Given the description of an element on the screen output the (x, y) to click on. 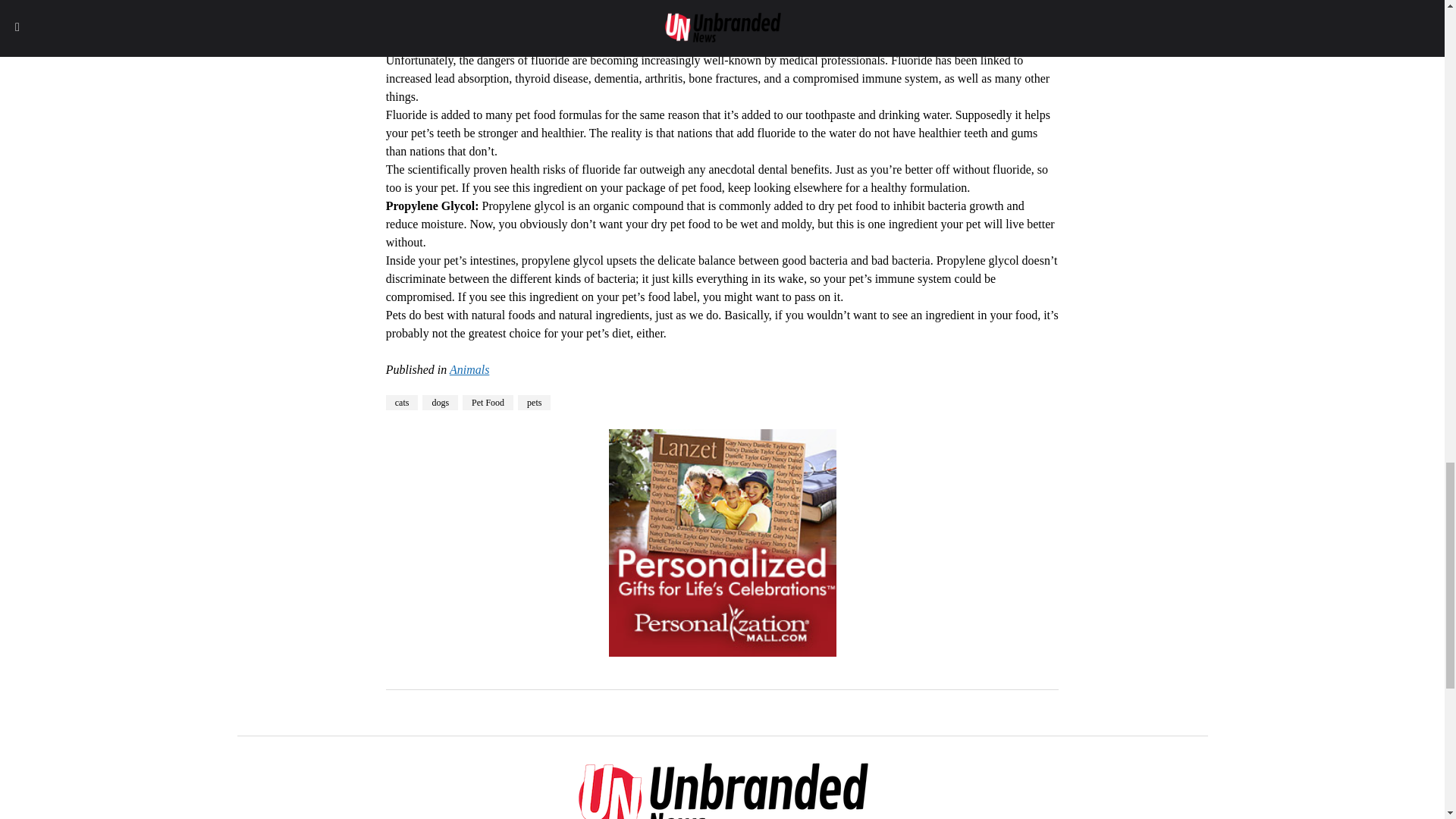
pets (534, 402)
cats (402, 402)
dogs (440, 402)
View all posts tagged Pet Food (488, 402)
View all posts in Animals (469, 369)
View all posts tagged cats (402, 402)
Animals (469, 369)
View all posts tagged dogs (440, 402)
View all posts tagged pets (534, 402)
Pet Food (488, 402)
